Given the description of an element on the screen output the (x, y) to click on. 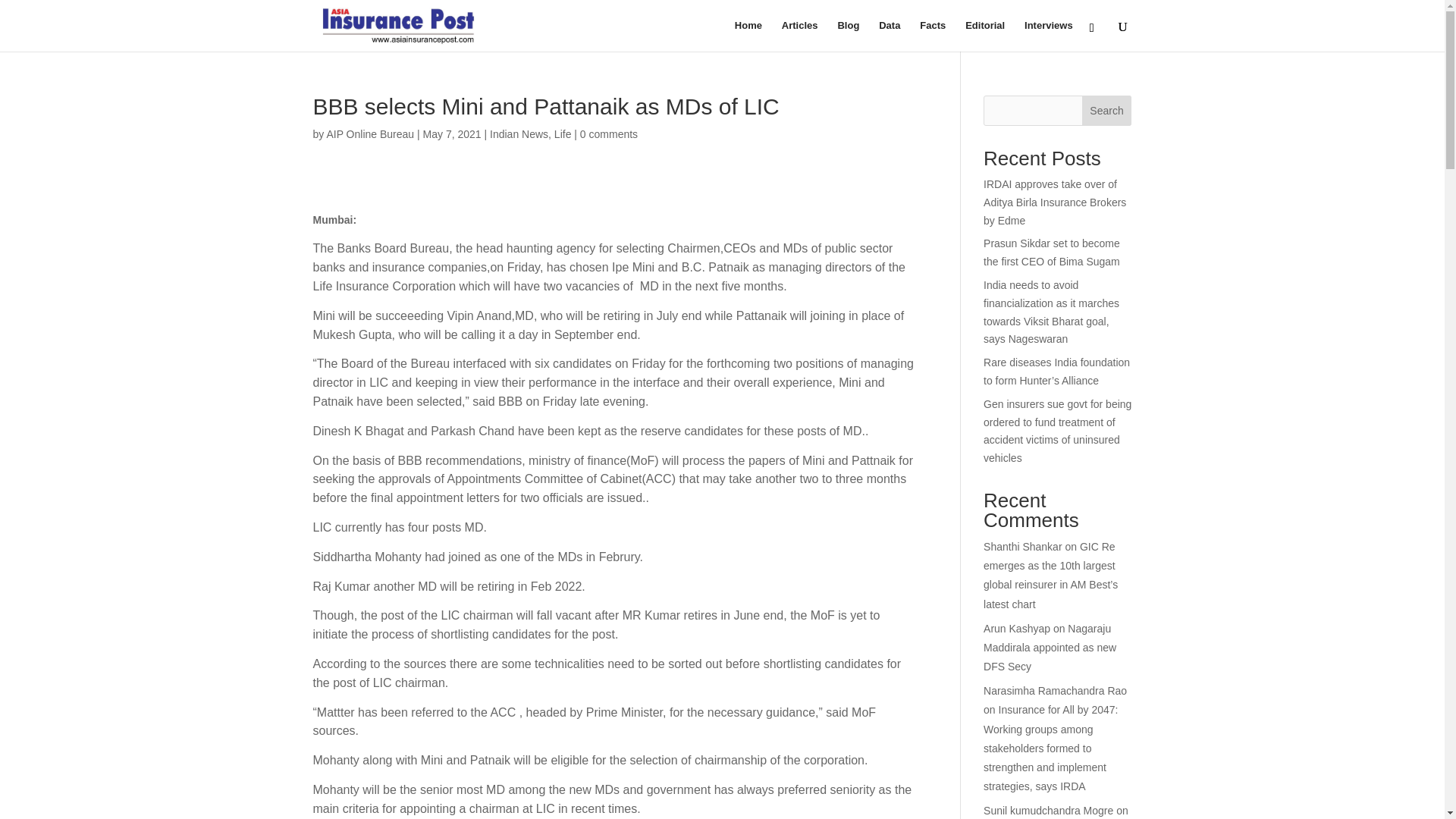
Editorial (984, 35)
Prasun Sikdar set to become the first CEO of Bima Sugam (1051, 252)
Articles (799, 35)
Indian News (518, 133)
Nagaraju Maddirala appointed as new DFS Secy (1050, 647)
0 comments (608, 133)
Interviews (1049, 35)
